Given the description of an element on the screen output the (x, y) to click on. 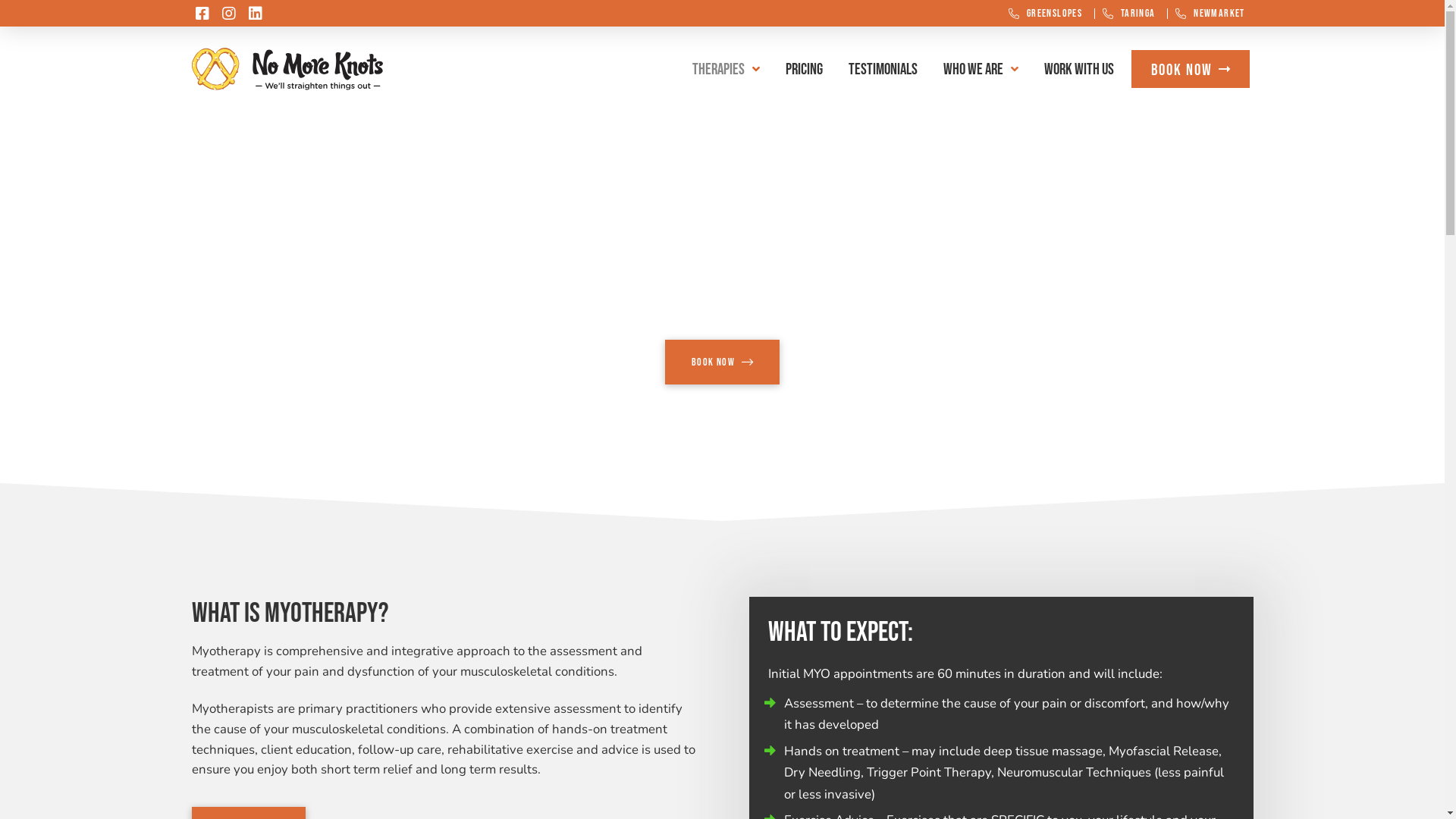
BOOK NOW Element type: text (1190, 68)
PRICING Element type: text (803, 68)
TARINGA Element type: text (1127, 13)
TESTIMONIALS Element type: text (882, 68)
WHO WE ARE Element type: text (980, 68)
WORK WITH US Element type: text (1078, 68)
BOOK NOW Element type: text (722, 361)
NEWMARKET Element type: text (1209, 13)
THERAPIES Element type: text (725, 68)
GREENSLOPES Element type: text (1044, 13)
